Given the description of an element on the screen output the (x, y) to click on. 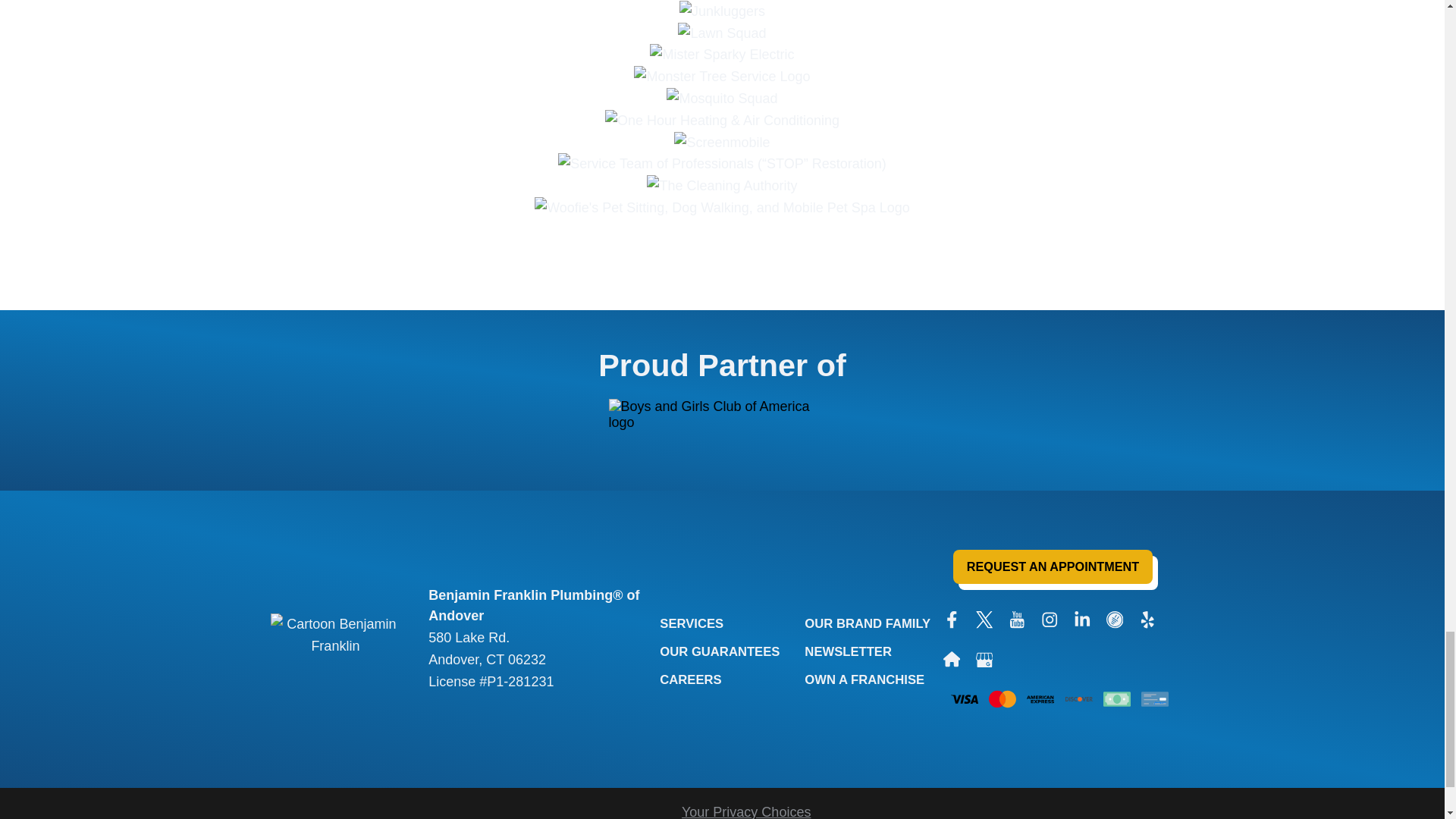
Twitter logo (983, 619)
Facebook logo (951, 619)
YouTube logo (1017, 619)
Career Plug logo (1115, 619)
Instagram logo (1049, 619)
